Given the description of an element on the screen output the (x, y) to click on. 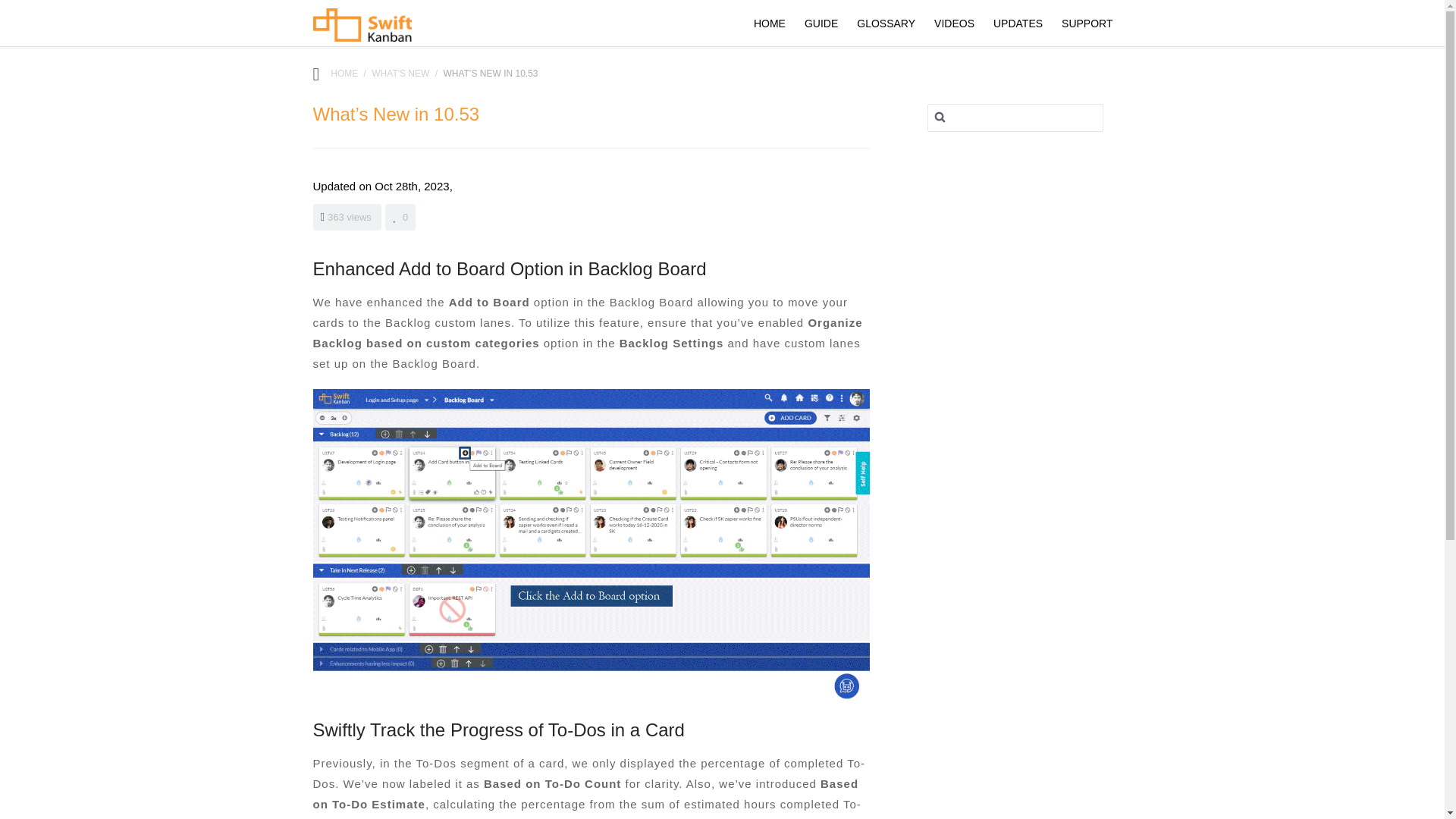
SwiftKanban Knowledge Base (361, 29)
SUPPORT (1086, 23)
GLOSSARY (886, 23)
UPDATES (1017, 23)
Like this (399, 216)
SwiftKanban Knowledge Base (344, 72)
